Given the description of an element on the screen output the (x, y) to click on. 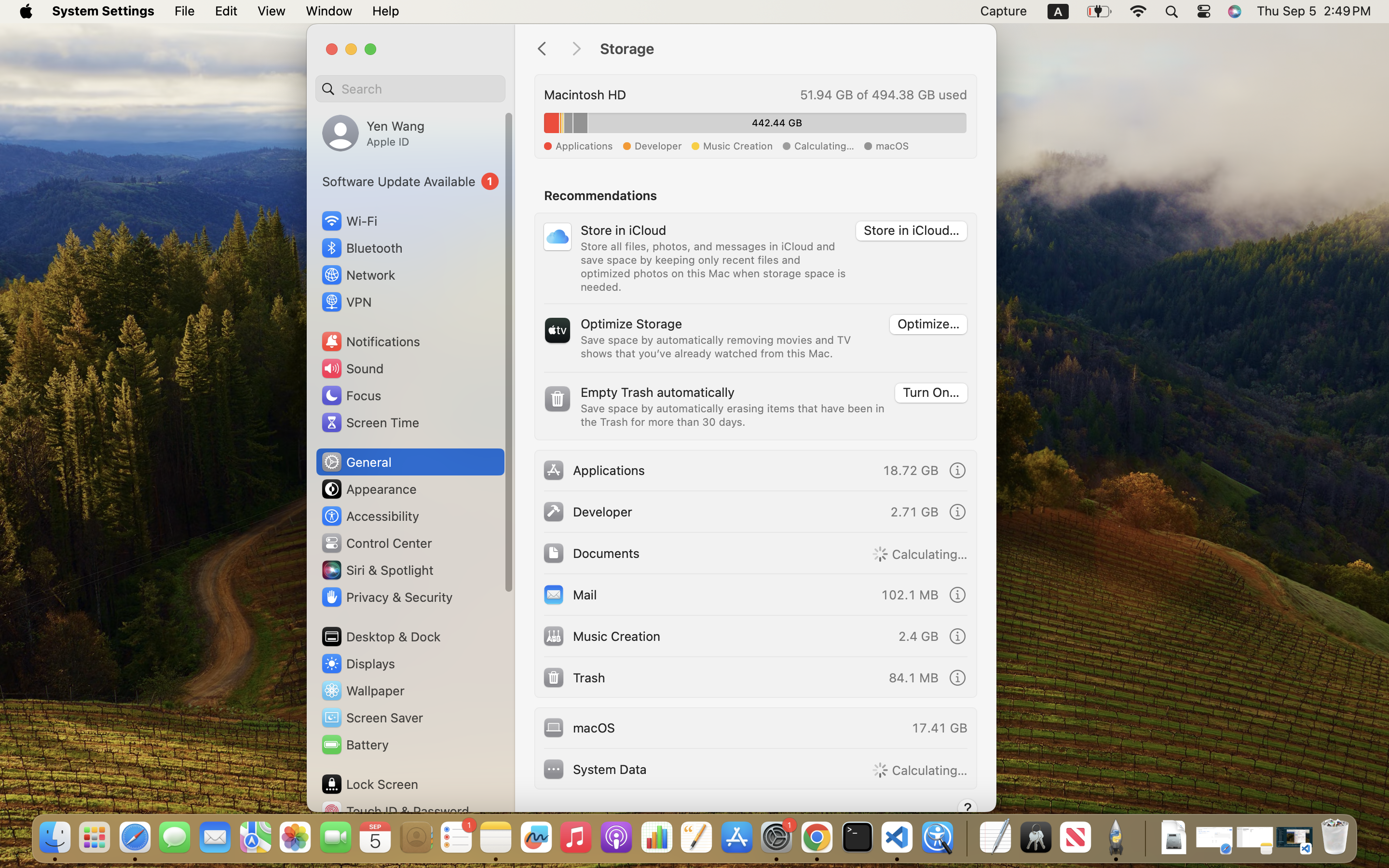
VPN Element type: AXStaticText (345, 301)
Store in iCloud Element type: AXStaticText (623, 229)
2.4 GB Element type: AXStaticText (918, 635)
Appearance Element type: AXStaticText (368, 488)
Developer Element type: AXStaticText (587, 510)
